Given the description of an element on the screen output the (x, y) to click on. 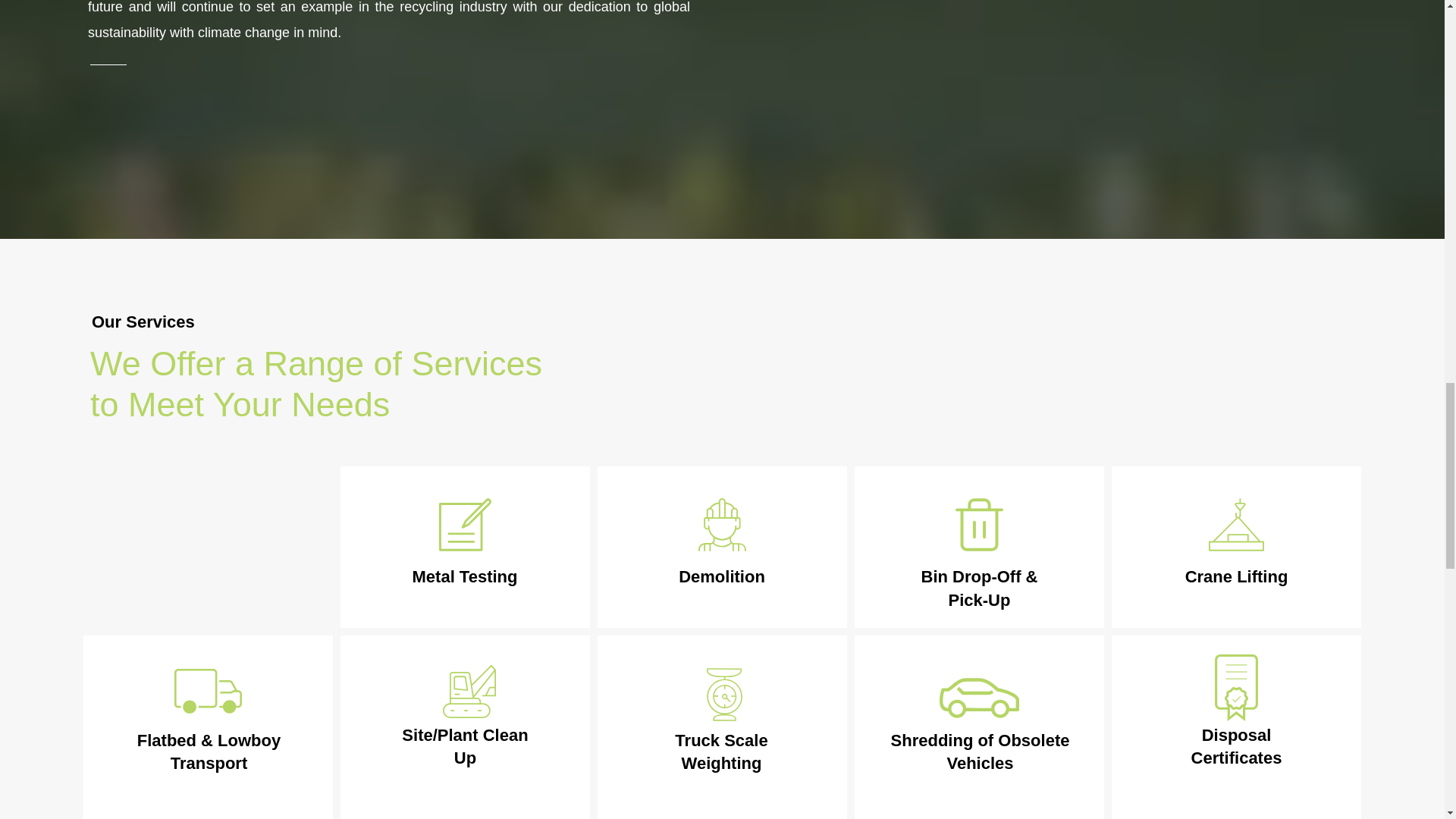
Metal Testing (465, 576)
Crane Lifting (1236, 576)
Truck Scale Weighting (721, 752)
Disposal Certificates (1236, 746)
Demolition (721, 576)
Shredding of Obsolete Vehicles (980, 752)
